Given the description of an element on the screen output the (x, y) to click on. 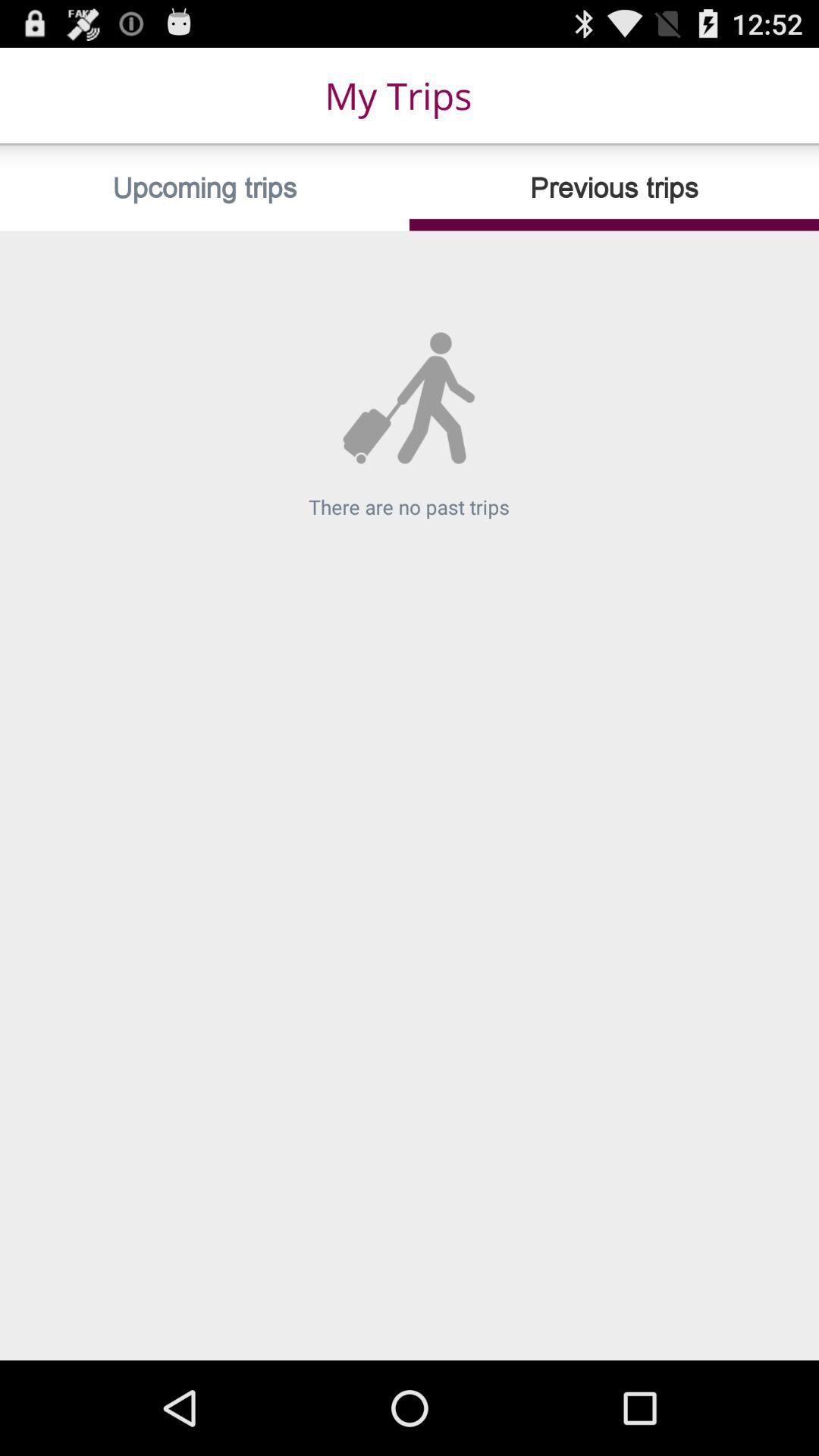
choose icon above there are no item (204, 187)
